Given the description of an element on the screen output the (x, y) to click on. 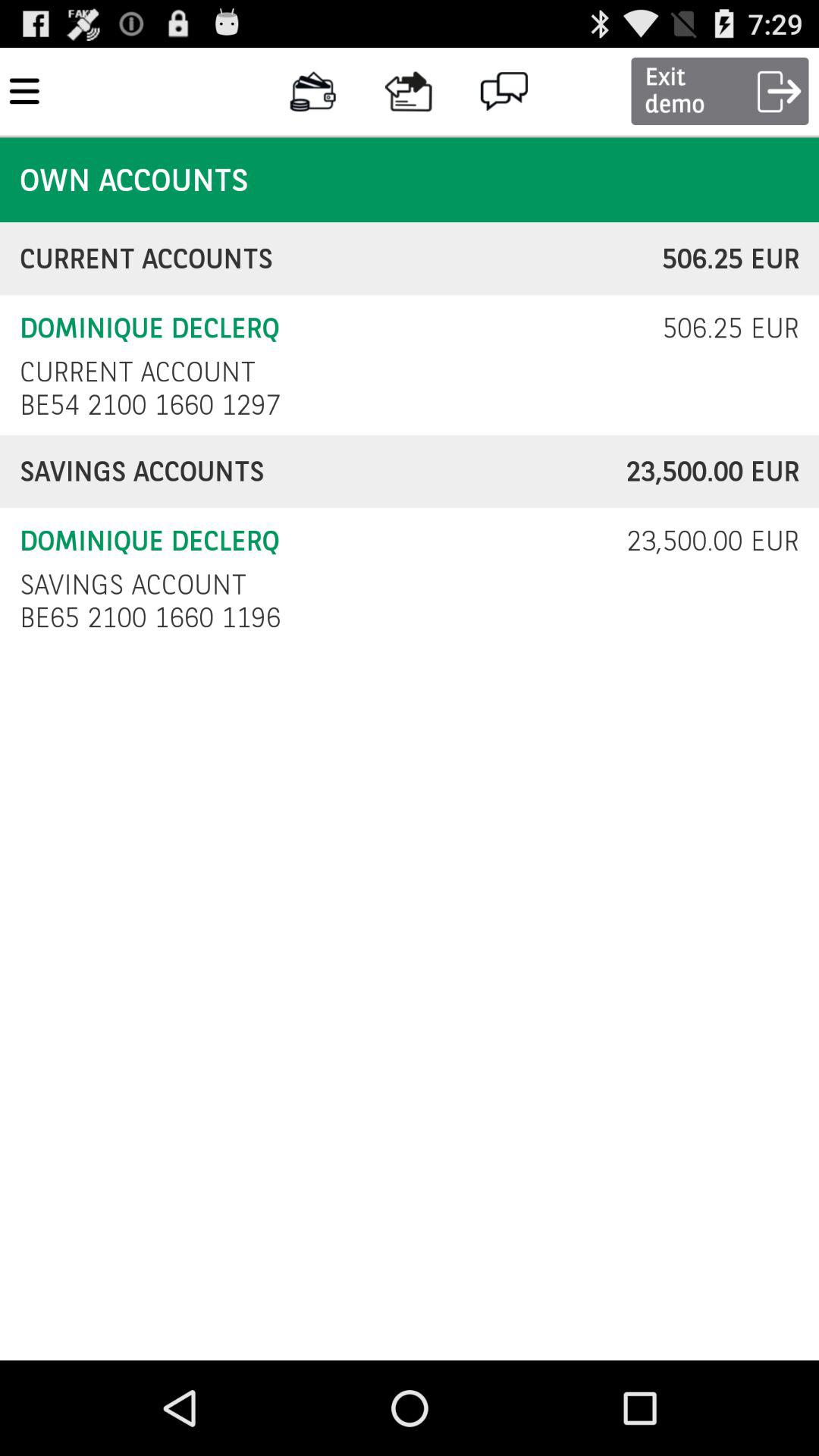
swipe until the be54 2100 1660 checkbox (153, 404)
